Given the description of an element on the screen output the (x, y) to click on. 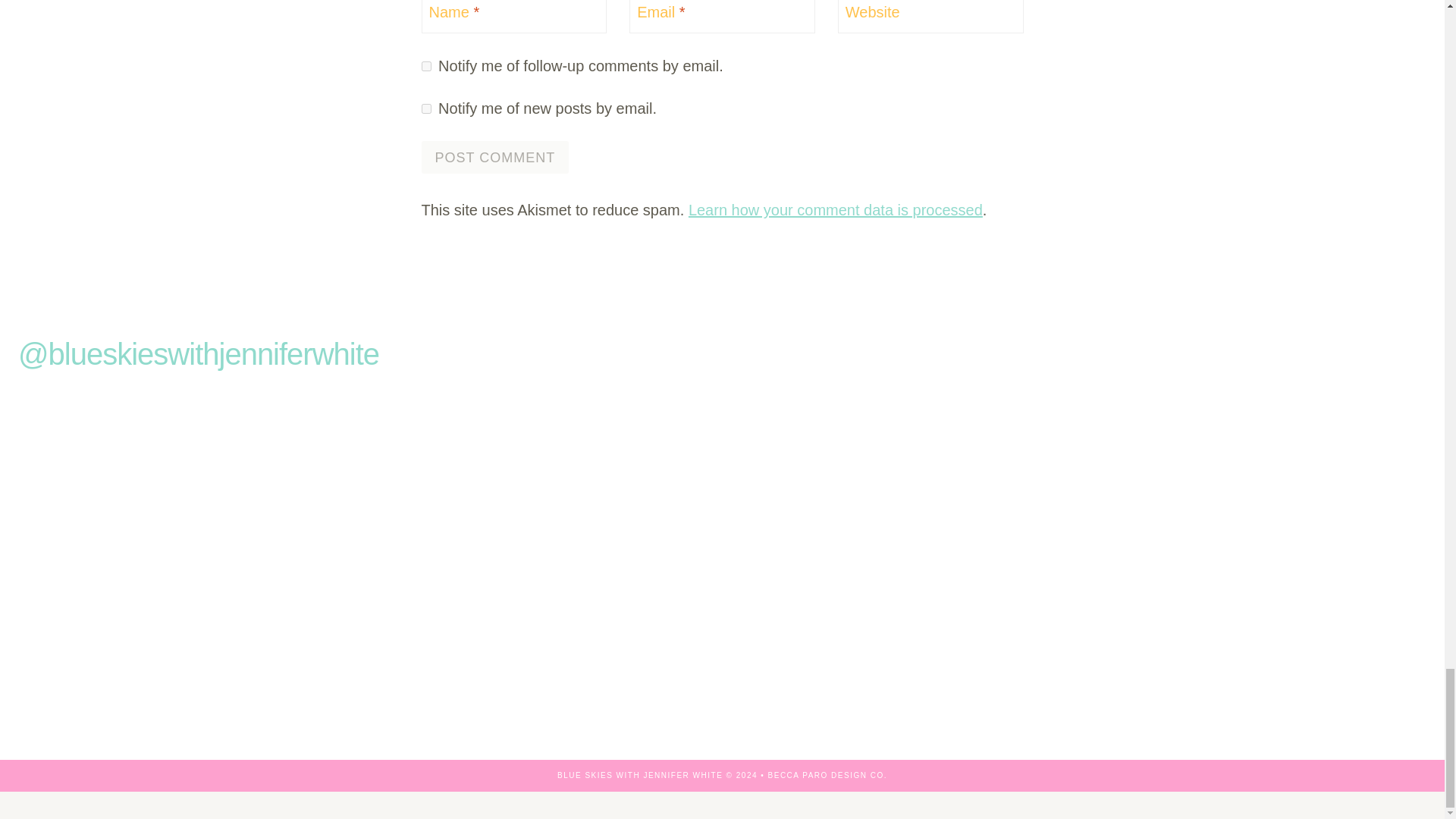
subscribe (426, 108)
subscribe (426, 66)
Post Comment (495, 156)
